Given the description of an element on the screen output the (x, y) to click on. 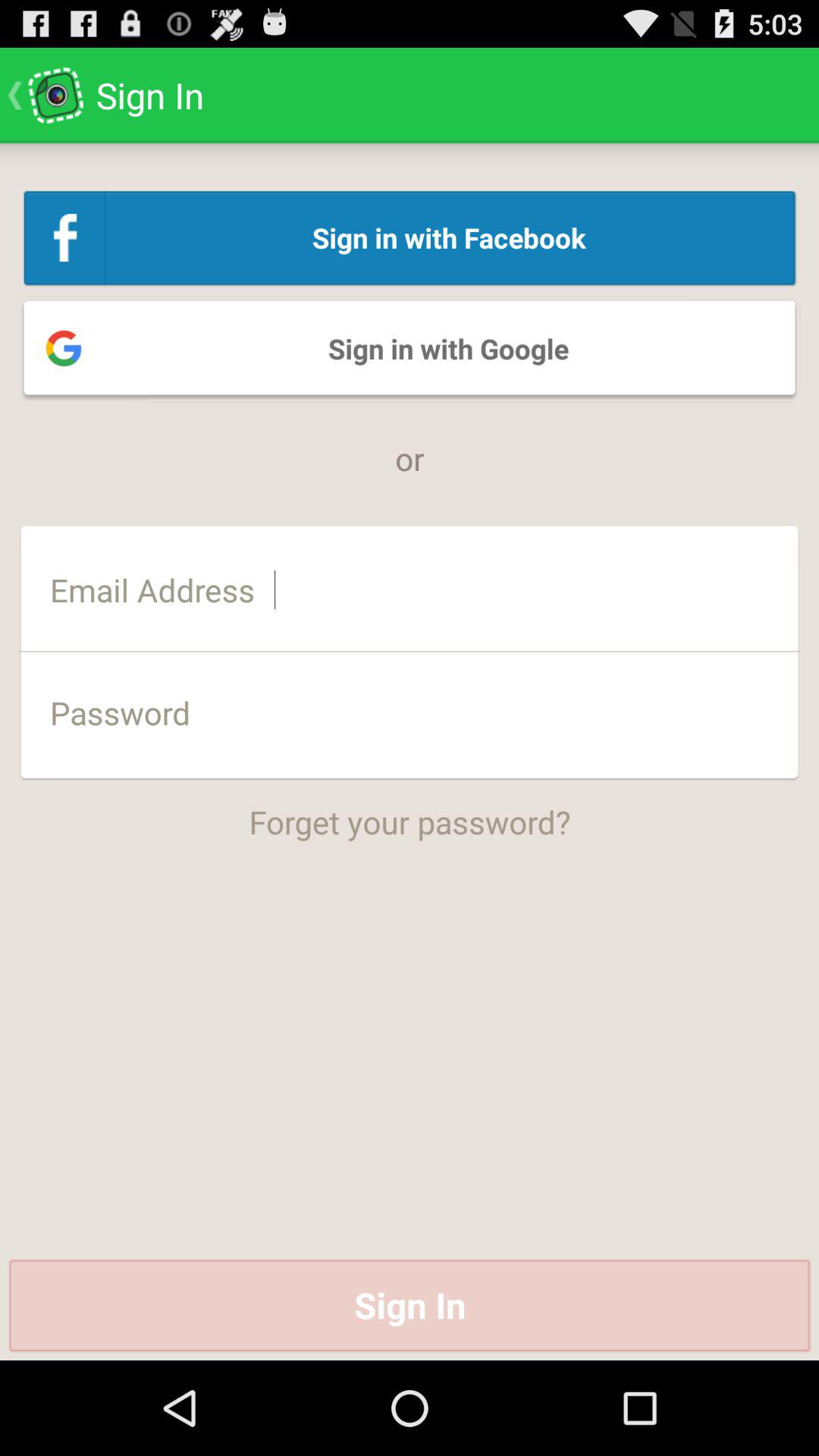
launch forget your password? app (409, 811)
